Given the description of an element on the screen output the (x, y) to click on. 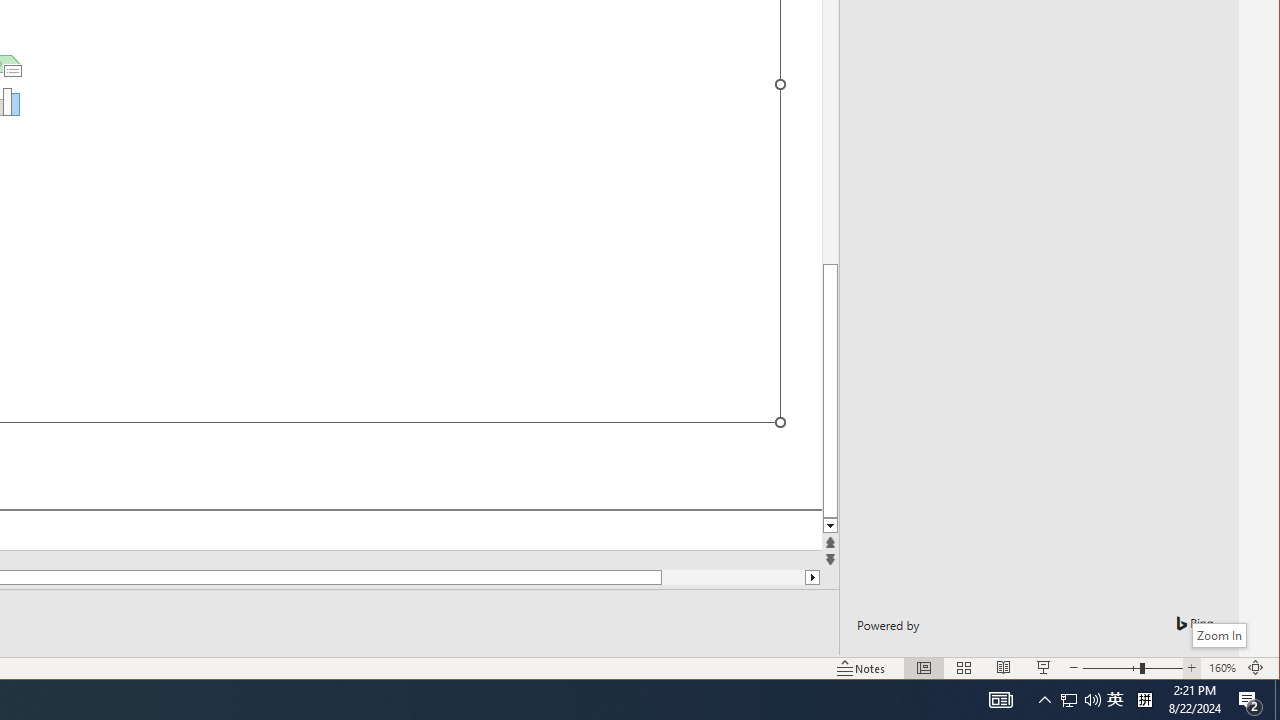
Zoom In (1218, 635)
AutomationID: 4105 (1000, 699)
Action Center, 2 new notifications (1250, 699)
Tray Input Indicator - Chinese (Simplified, China) (1144, 699)
Notification Chevron (1044, 699)
Normal (923, 668)
Zoom Out (1111, 668)
User Promoted Notification Area (1115, 699)
Line down (1080, 699)
Show desktop (829, 525)
Zoom to Fit  (1277, 699)
Zoom (1256, 668)
